Given the description of an element on the screen output the (x, y) to click on. 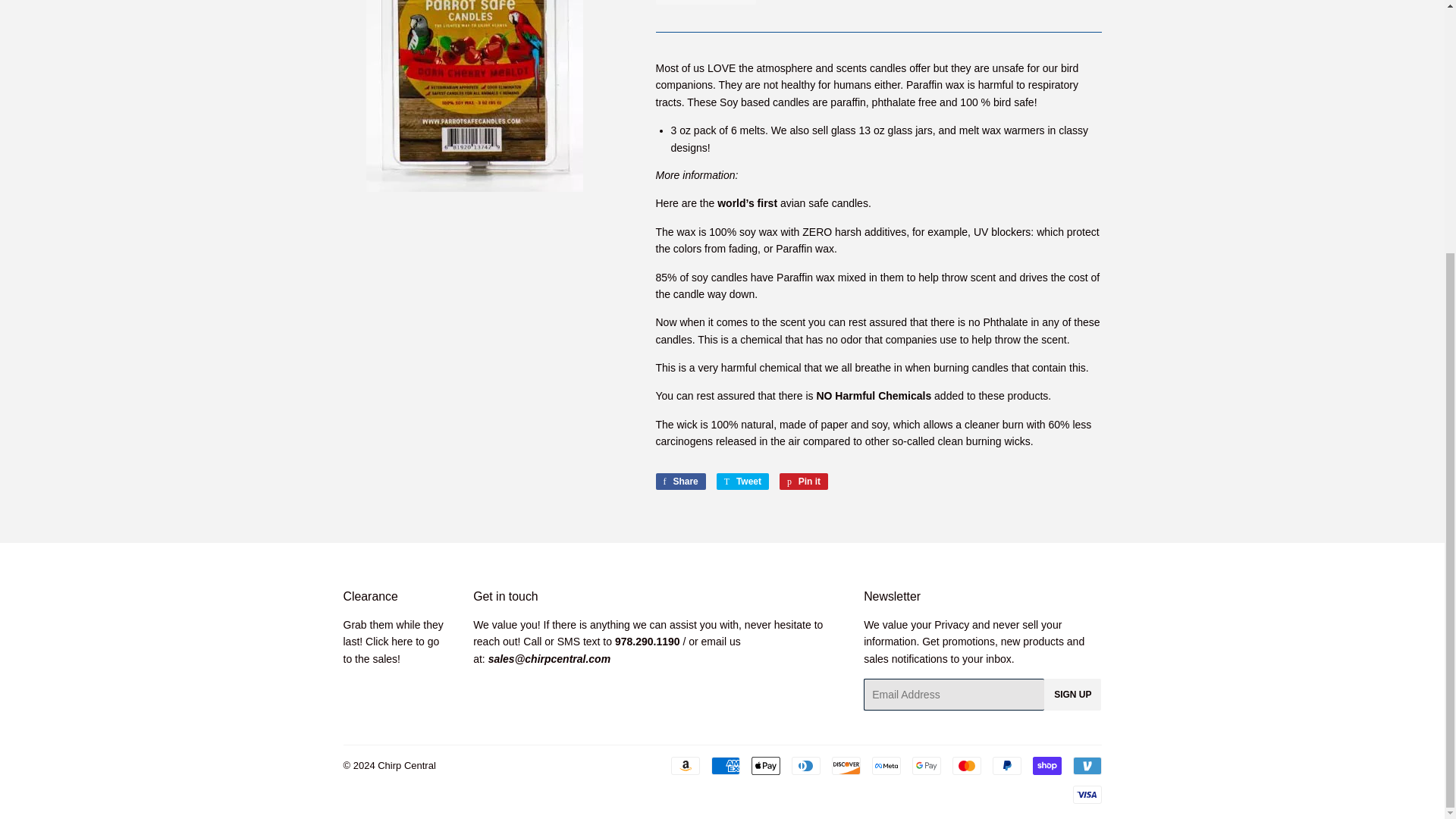
Shop Pay (1046, 765)
Tweet on Twitter (742, 481)
Mastercard (966, 765)
Apple Pay (764, 765)
Amazon (683, 765)
American Express (725, 765)
Diners Club (806, 765)
Pin on Pinterest (803, 481)
Venmo (1085, 765)
Meta Pay (886, 765)
Google Pay (925, 765)
Discover (845, 765)
Visa (1085, 794)
Share on Facebook (679, 481)
PayPal (1005, 765)
